Given the description of an element on the screen output the (x, y) to click on. 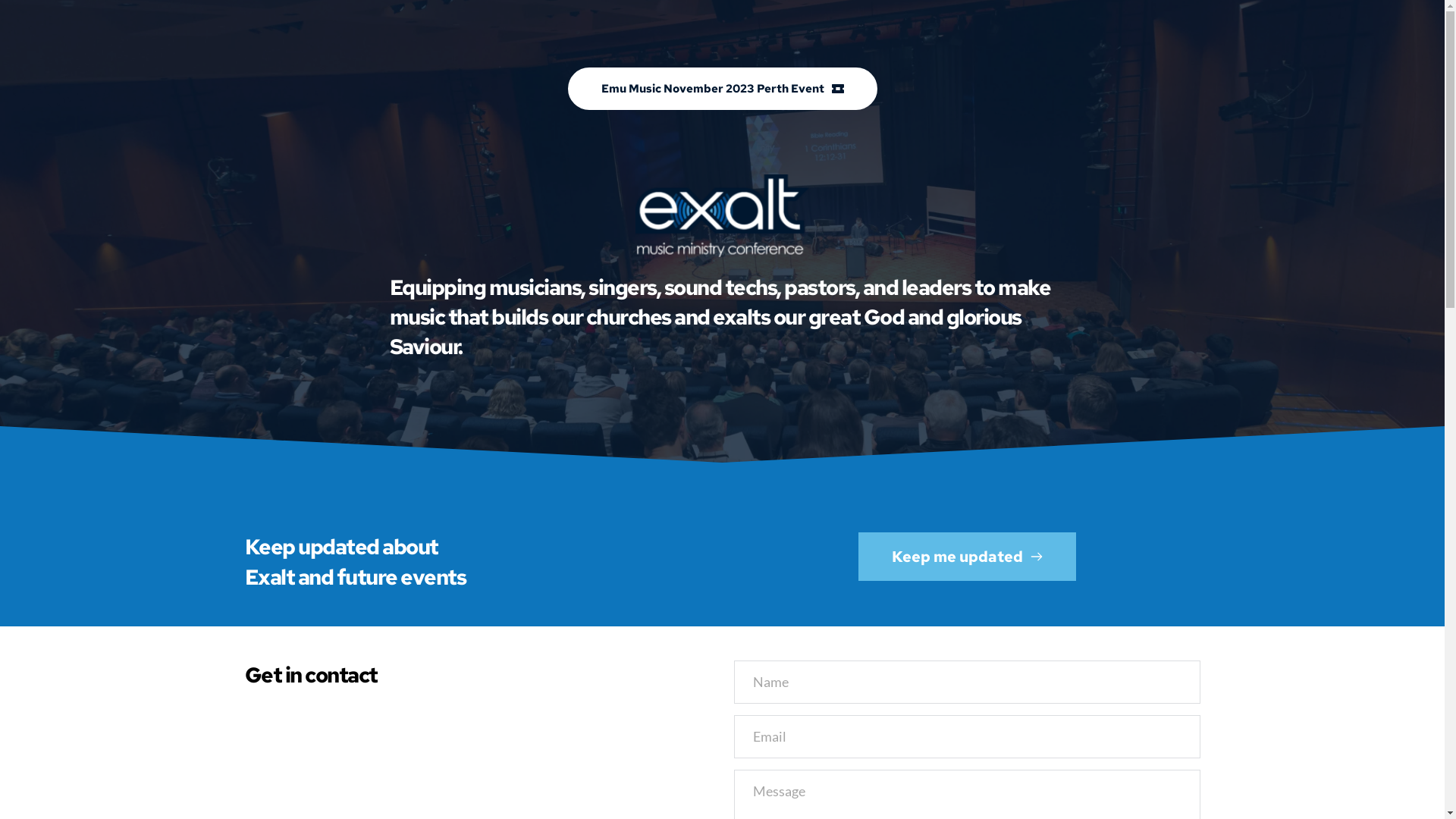
Emu Music November 2023 Perth Event Element type: text (721, 88)
Keep me updated Element type: text (967, 556)
